Given the description of an element on the screen output the (x, y) to click on. 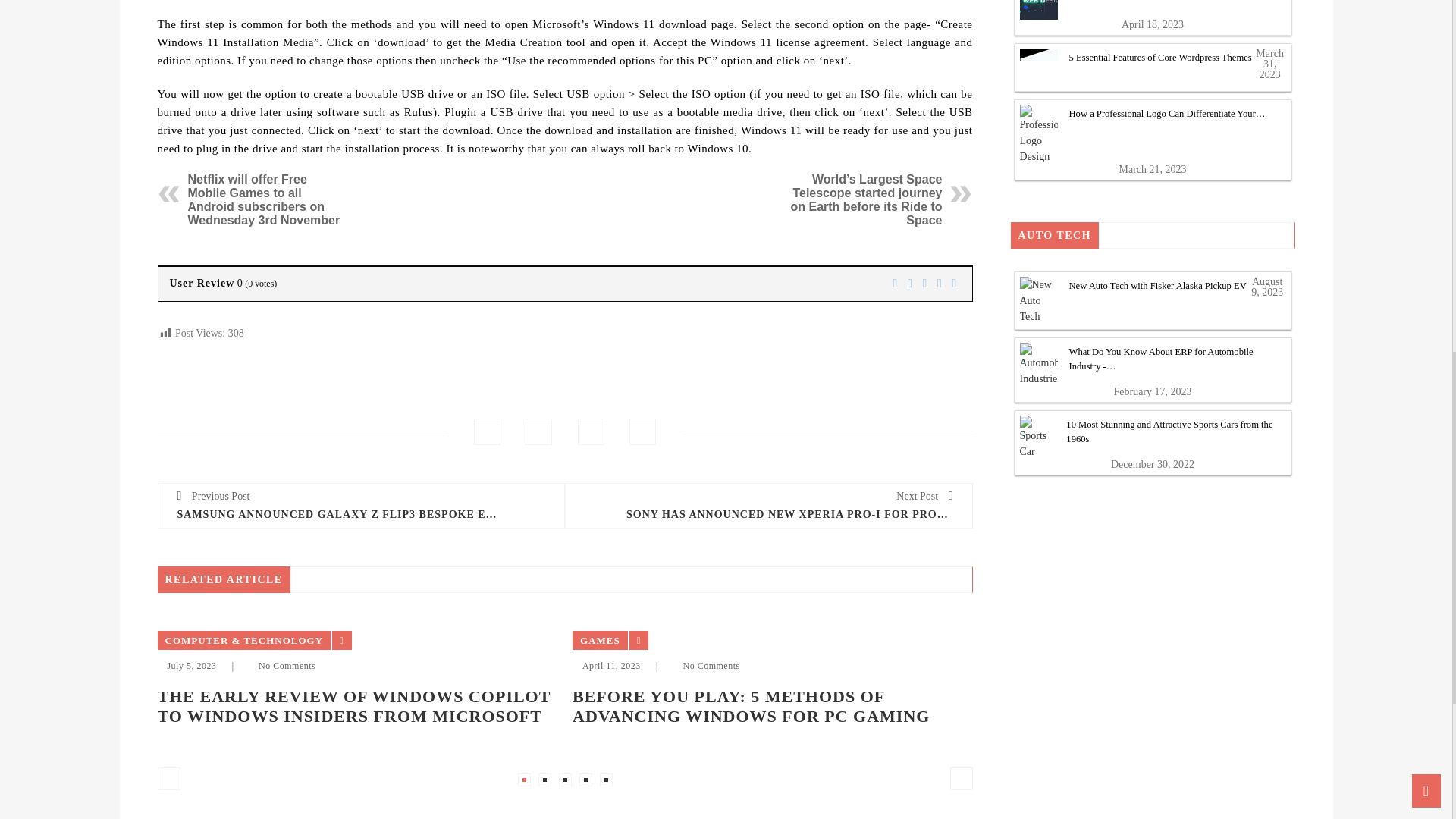
View all posts in Games (599, 640)
Click to share this post on Linkedin (642, 431)
Click to share this post on Facebook (487, 431)
Click to share this post on Twitter (538, 431)
